Given the description of an element on the screen output the (x, y) to click on. 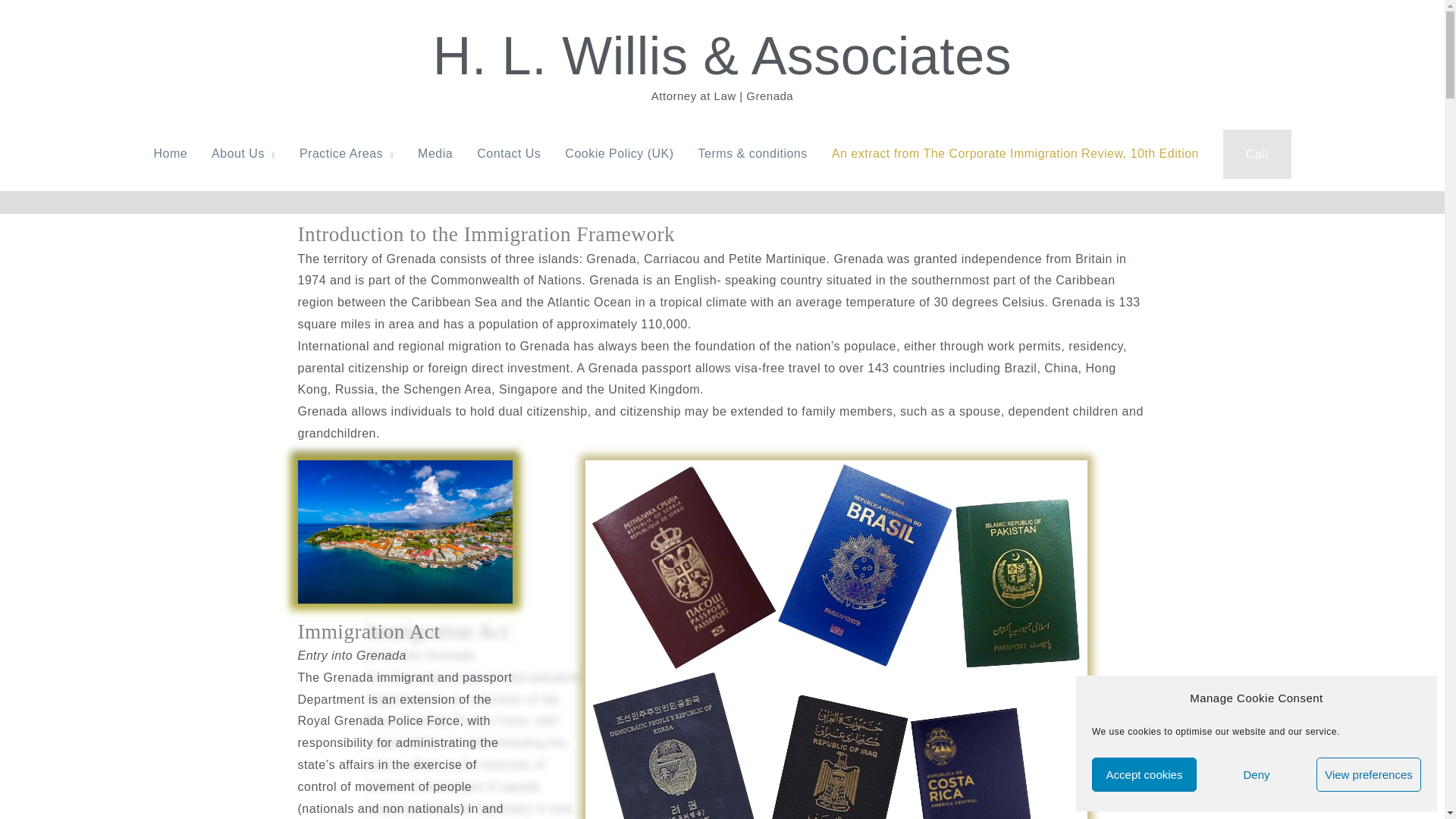
Media (435, 153)
View preferences (1368, 774)
Accept cookies (1144, 774)
About Us (242, 153)
Call (1257, 153)
Practice Areas (346, 153)
Home (170, 153)
Contact Us (508, 153)
Deny (1256, 774)
